Given the description of an element on the screen output the (x, y) to click on. 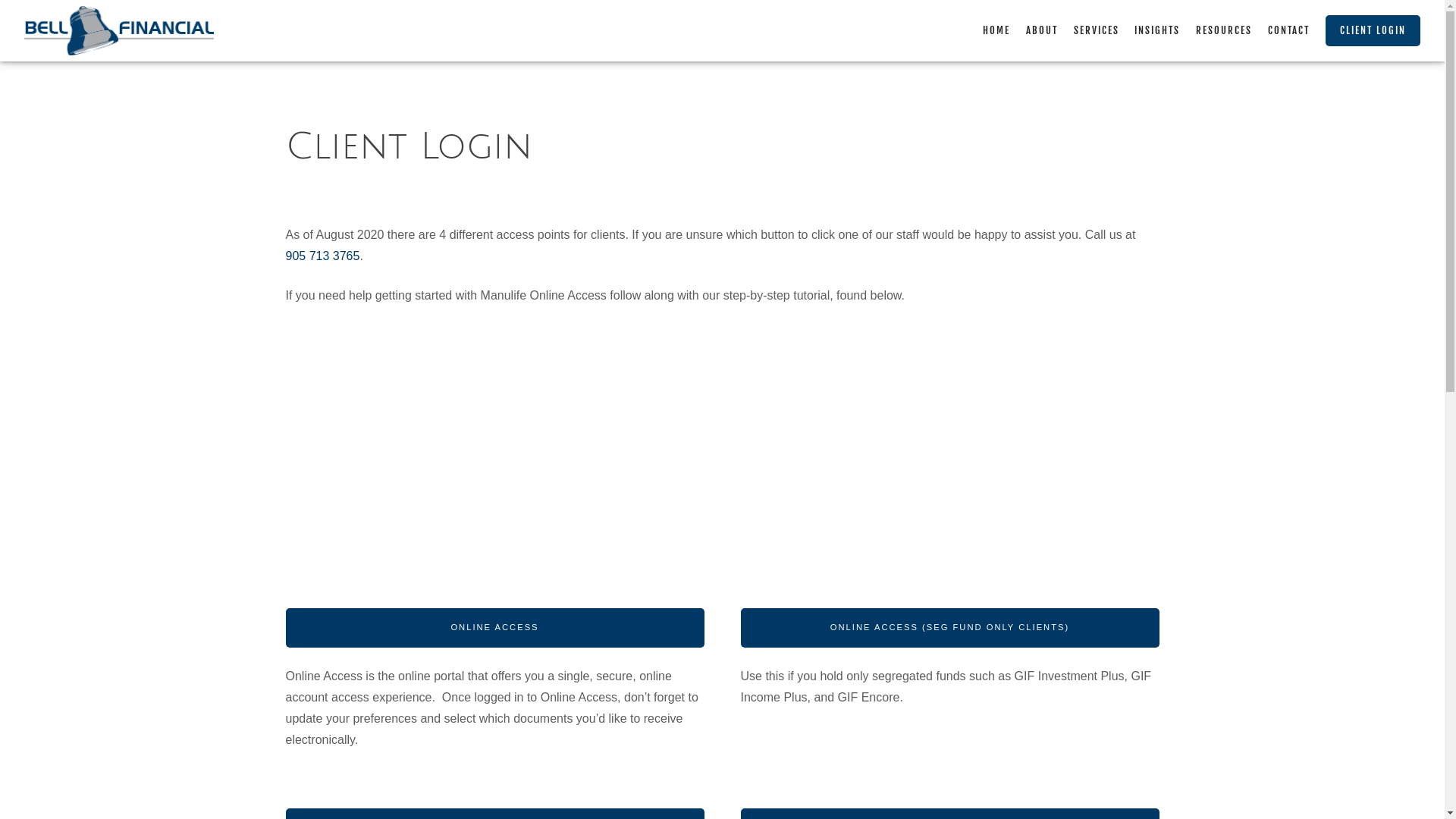
CONTACT Element type: text (1288, 30)
CLIENT LOGIN Element type: text (1372, 31)
ONLINE ACCESS Element type: text (494, 627)
ABOUT Element type: text (1041, 30)
SERVICES Element type: text (1096, 30)
RESOURCES Element type: text (1223, 30)
INSIGHTS Element type: text (1156, 30)
905 713 3765 Element type: text (322, 255)
ONLINE ACCESS (SEG FUND ONLY CLIENTS) Element type: text (949, 627)
HOME Element type: text (996, 30)
